Given the description of an element on the screen output the (x, y) to click on. 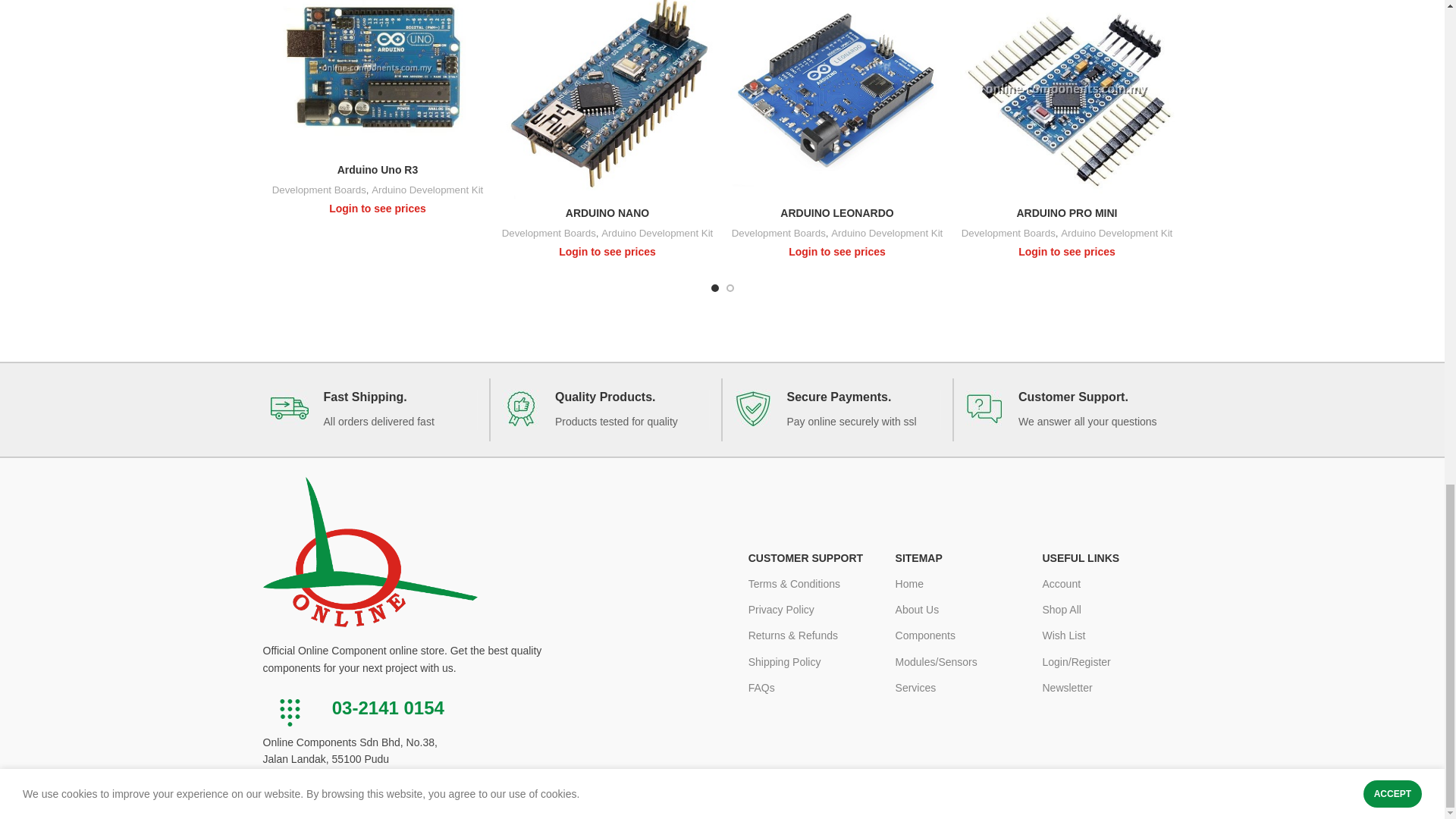
oc-cs (984, 408)
oc-qp (521, 408)
oc-sp (752, 408)
oc-fs (288, 408)
